Given the description of an element on the screen output the (x, y) to click on. 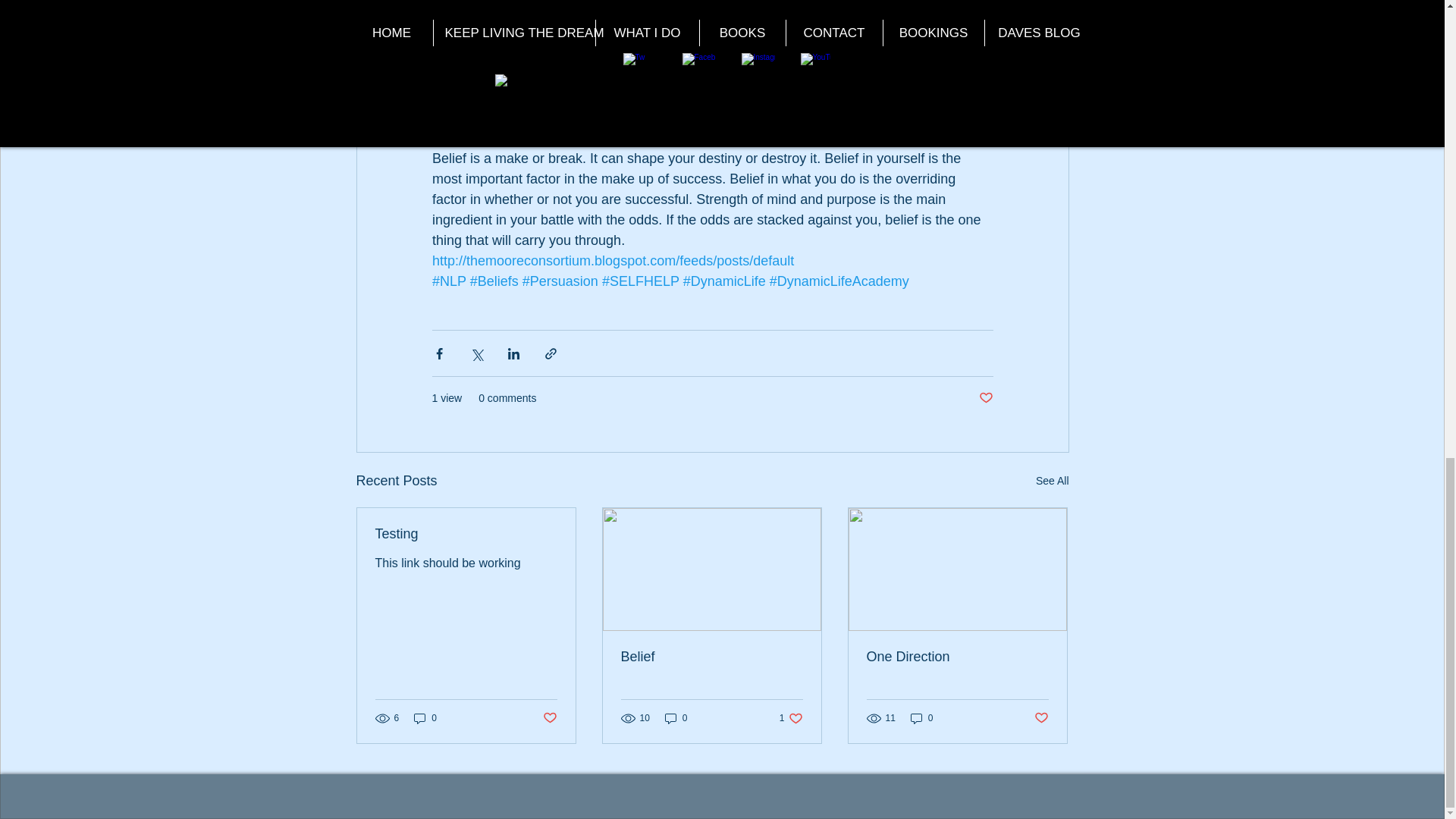
0 (921, 718)
One Direction (957, 657)
Belief (790, 718)
Testing (711, 657)
Post not marked as liked (465, 534)
0 (985, 398)
See All (675, 718)
0 (1051, 481)
Post not marked as liked (425, 718)
